Given the description of an element on the screen output the (x, y) to click on. 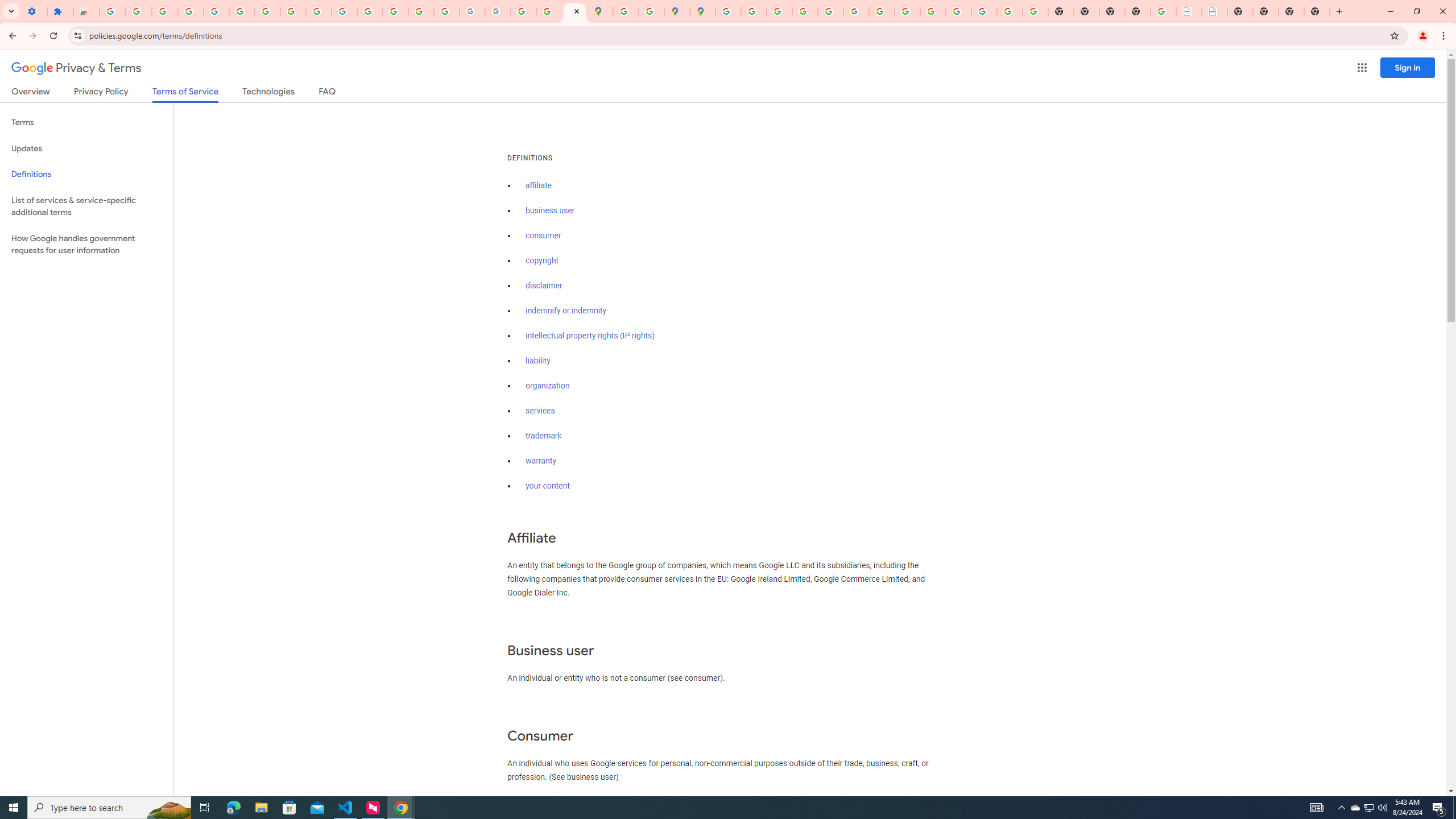
trademark (543, 435)
LAAD Defence & Security 2025 | BAE Systems (1188, 11)
Delete photos & videos - Computer - Google Photos Help (165, 11)
List of services & service-specific additional terms (86, 206)
